Given the description of an element on the screen output the (x, y) to click on. 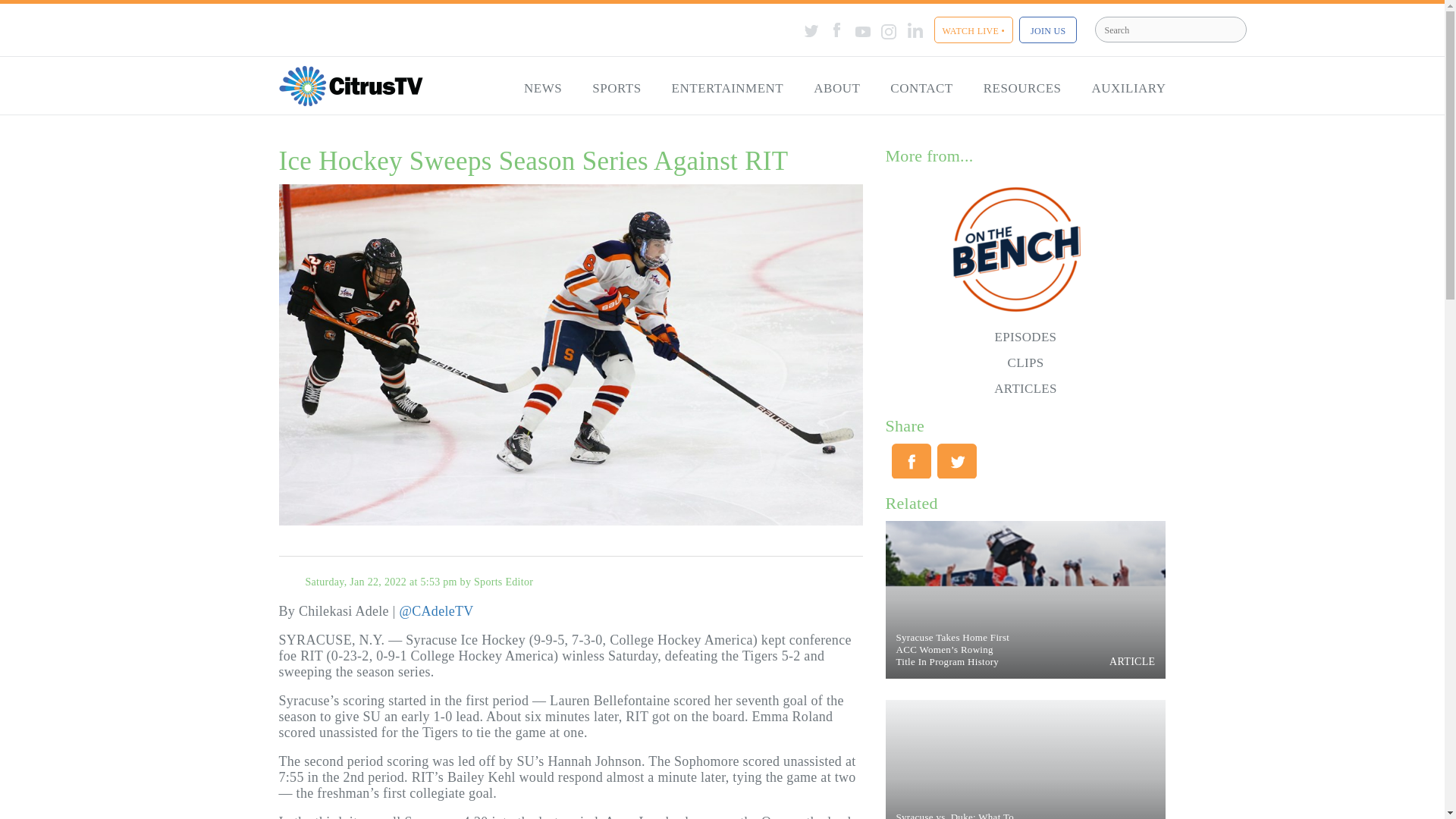
RESOURCES (1022, 88)
ENTERTAINMENT (727, 88)
ABOUT (836, 88)
SPORTS (616, 88)
JOIN US (1048, 29)
CONTACT (921, 88)
NEWS (542, 88)
